Given the description of an element on the screen output the (x, y) to click on. 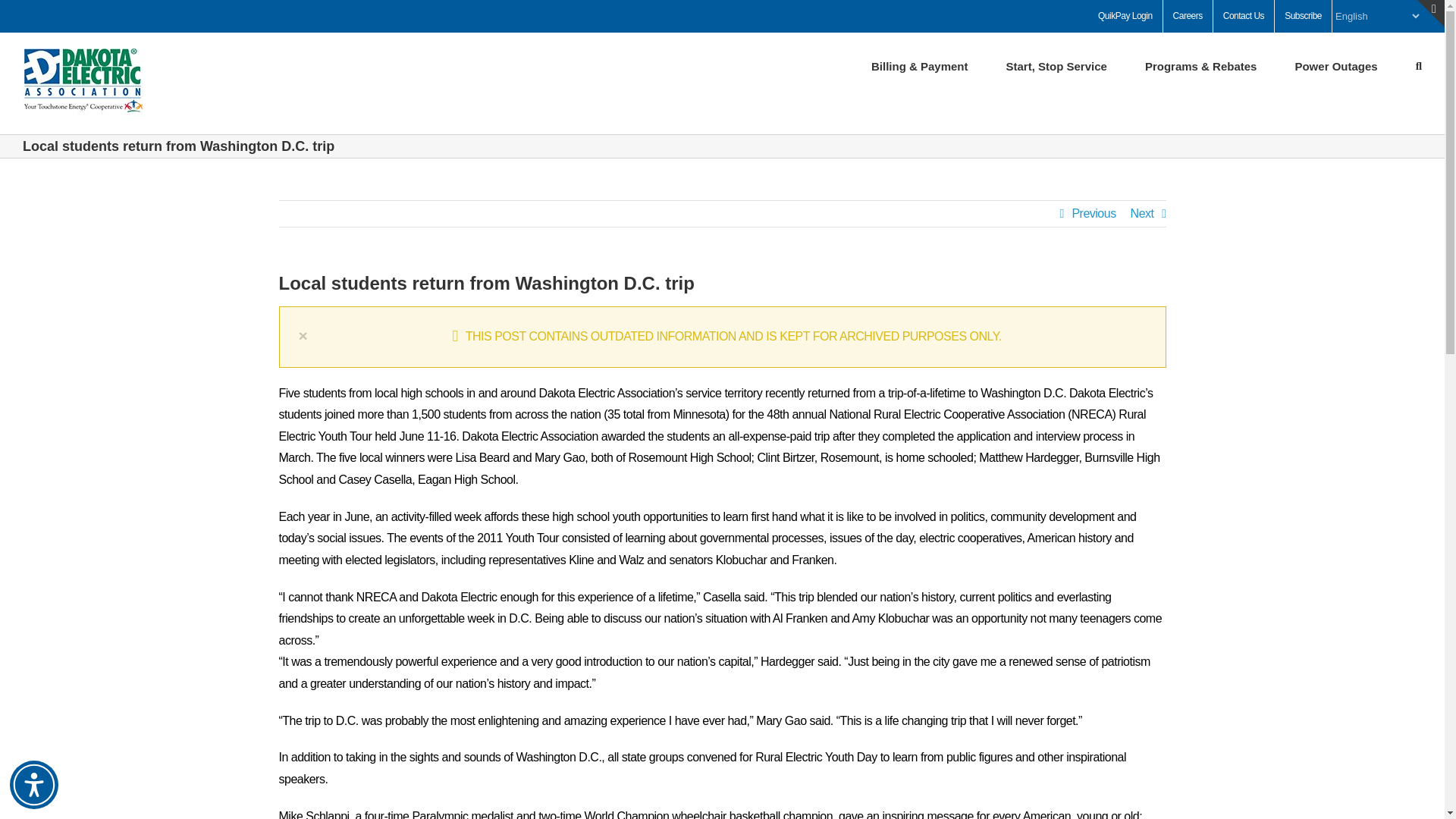
QuikPay Login (1124, 16)
Subscribe (1303, 16)
Careers (1187, 16)
Accessibility Menu (34, 784)
Contact Us (1243, 16)
